Given the description of an element on the screen output the (x, y) to click on. 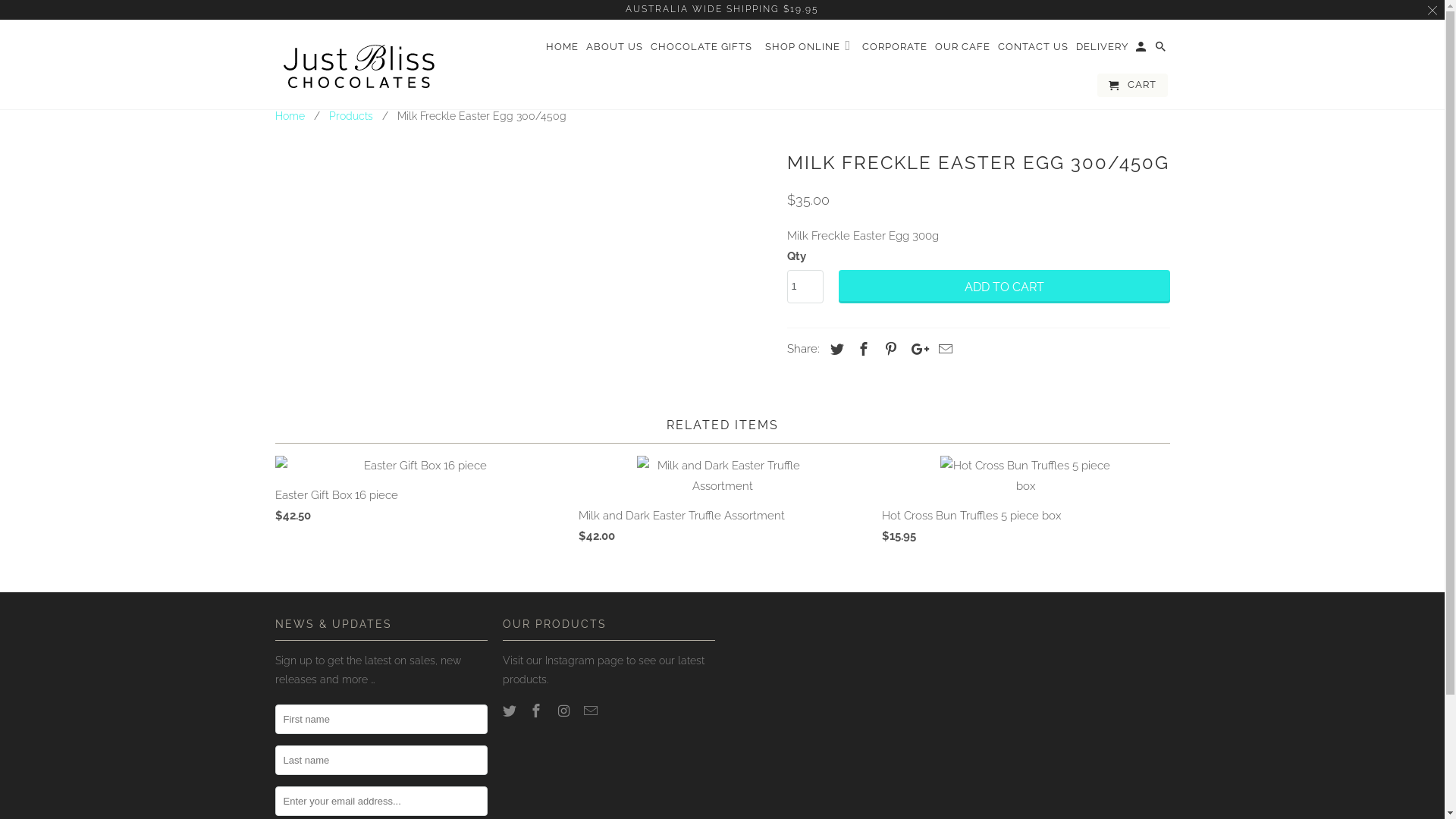
Home Element type: text (289, 115)
HOME Element type: text (562, 49)
Share this on Facebook Element type: hover (861, 349)
Products Element type: text (351, 115)
CART Element type: text (1132, 85)
My Account  Element type: hover (1141, 49)
Search Element type: hover (1161, 49)
Easter Gift Box 16 piece
$42.50 Element type: text (418, 493)
CHOCOLATE GIFTS Element type: text (701, 49)
OUR CAFE Element type: text (962, 49)
Just Bliss Chocolates on Instagram Element type: hover (564, 710)
Email Just Bliss Chocolates Element type: hover (591, 710)
Share this on Pinterest Element type: hover (888, 349)
Share this on Twitter Element type: hover (834, 349)
DELIVERY Element type: text (1102, 49)
Just Bliss Chocolates on Facebook Element type: hover (537, 710)
Just Bliss Chocolates on Twitter Element type: hover (510, 710)
Hot Cross Bun Truffles 5 piece box
$15.95 Element type: text (1025, 503)
Email this to a friend Element type: hover (943, 349)
ABOUT US Element type: text (614, 49)
Share this on Google+ Element type: hover (915, 349)
ADD TO CART Element type: text (1004, 286)
Just Bliss Chocolates Element type: hover (380, 64)
CORPORATE Element type: text (894, 49)
CONTACT US Element type: text (1032, 49)
Milk and Dark Easter Truffle Assortment
$42.00 Element type: text (721, 503)
